Given the description of an element on the screen output the (x, y) to click on. 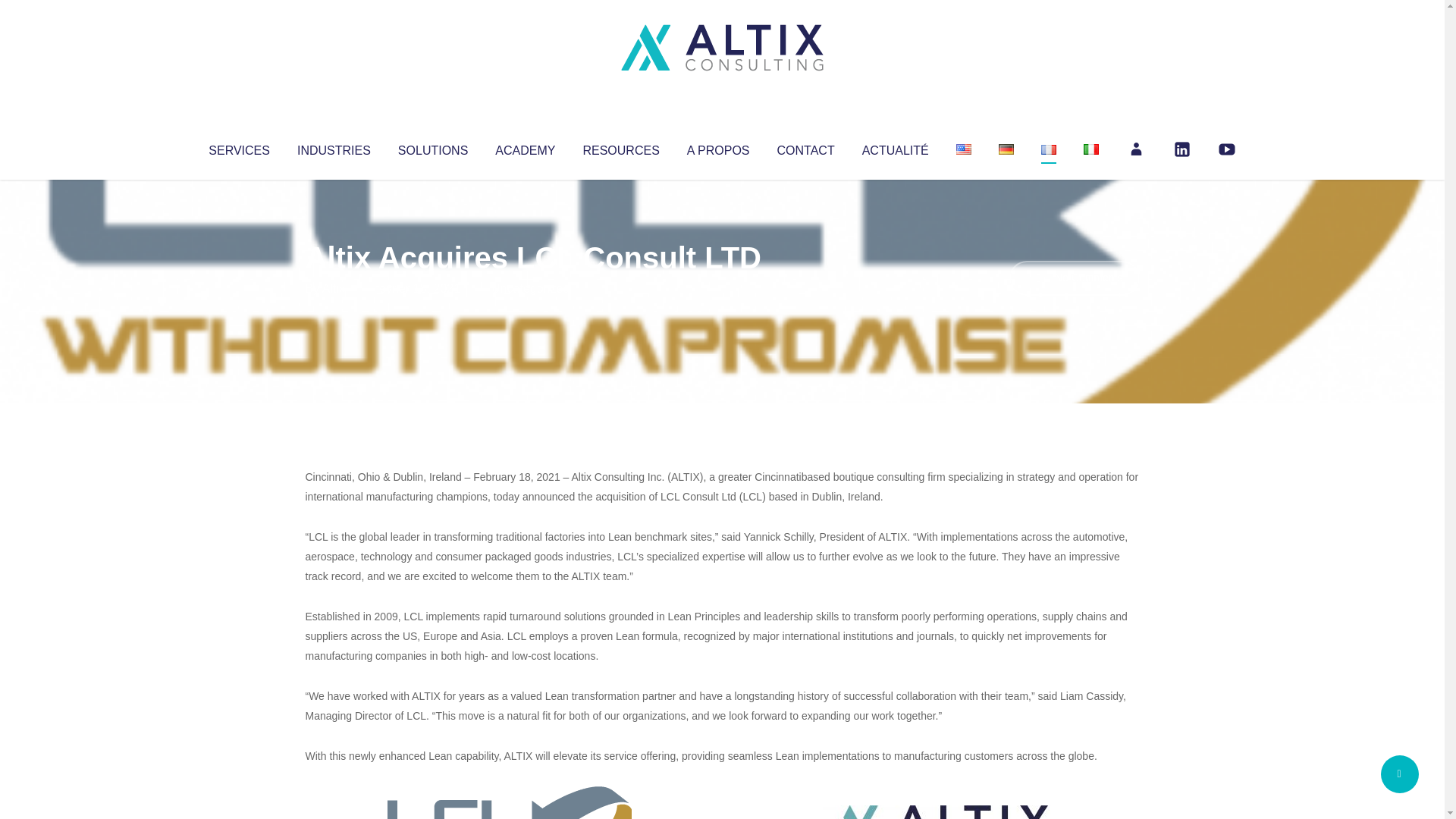
SERVICES (238, 146)
ACADEMY (524, 146)
INDUSTRIES (334, 146)
RESOURCES (620, 146)
A PROPOS (718, 146)
Articles par Altix (333, 287)
No Comments (1073, 278)
SOLUTIONS (432, 146)
Uncategorized (530, 287)
Altix (333, 287)
